Given the description of an element on the screen output the (x, y) to click on. 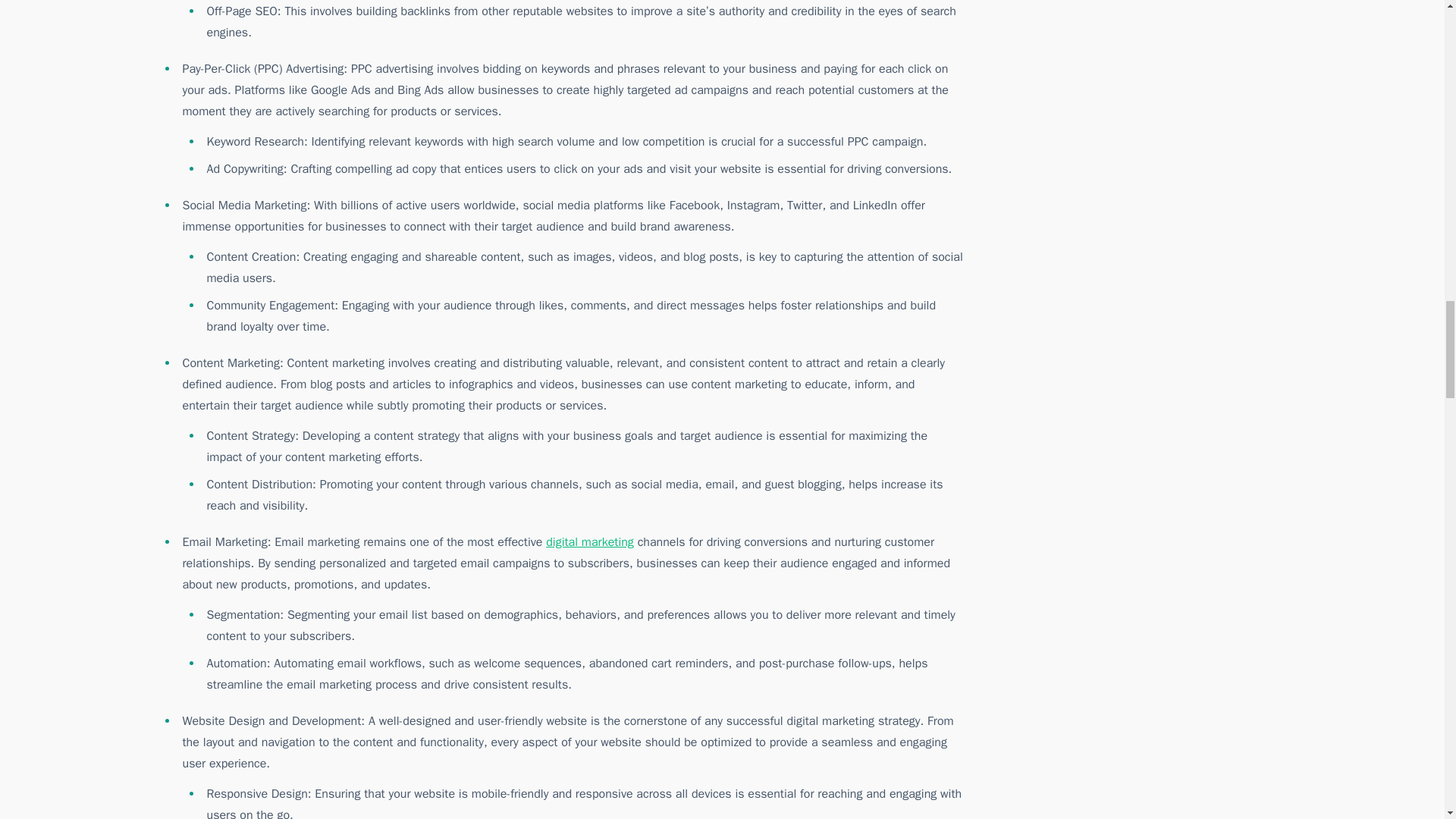
digital marketing (589, 541)
